Given the description of an element on the screen output the (x, y) to click on. 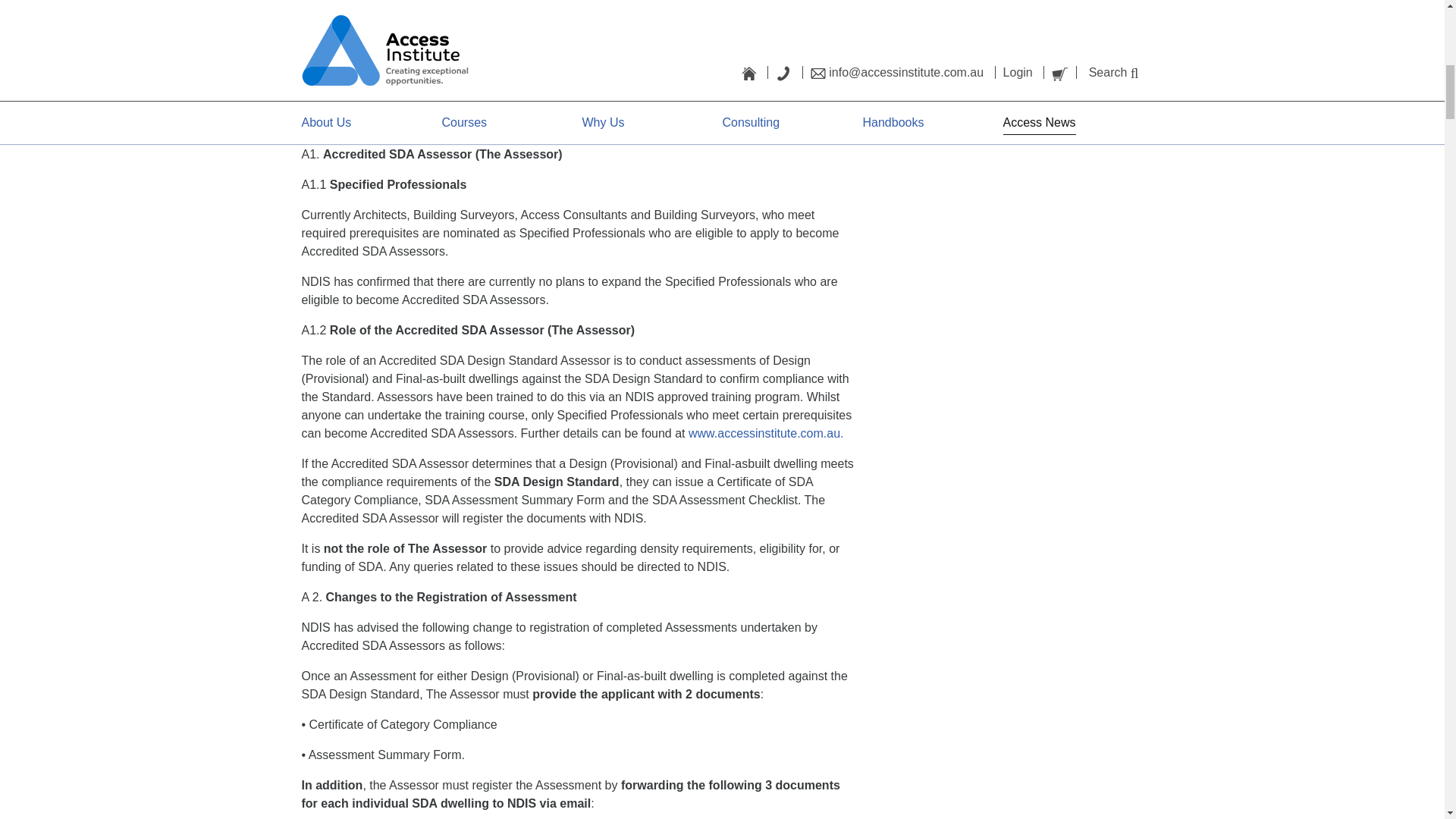
Sign Up (1108, 51)
Sign Up (1108, 51)
www.accessinstitute.com.au. (766, 432)
